Given the description of an element on the screen output the (x, y) to click on. 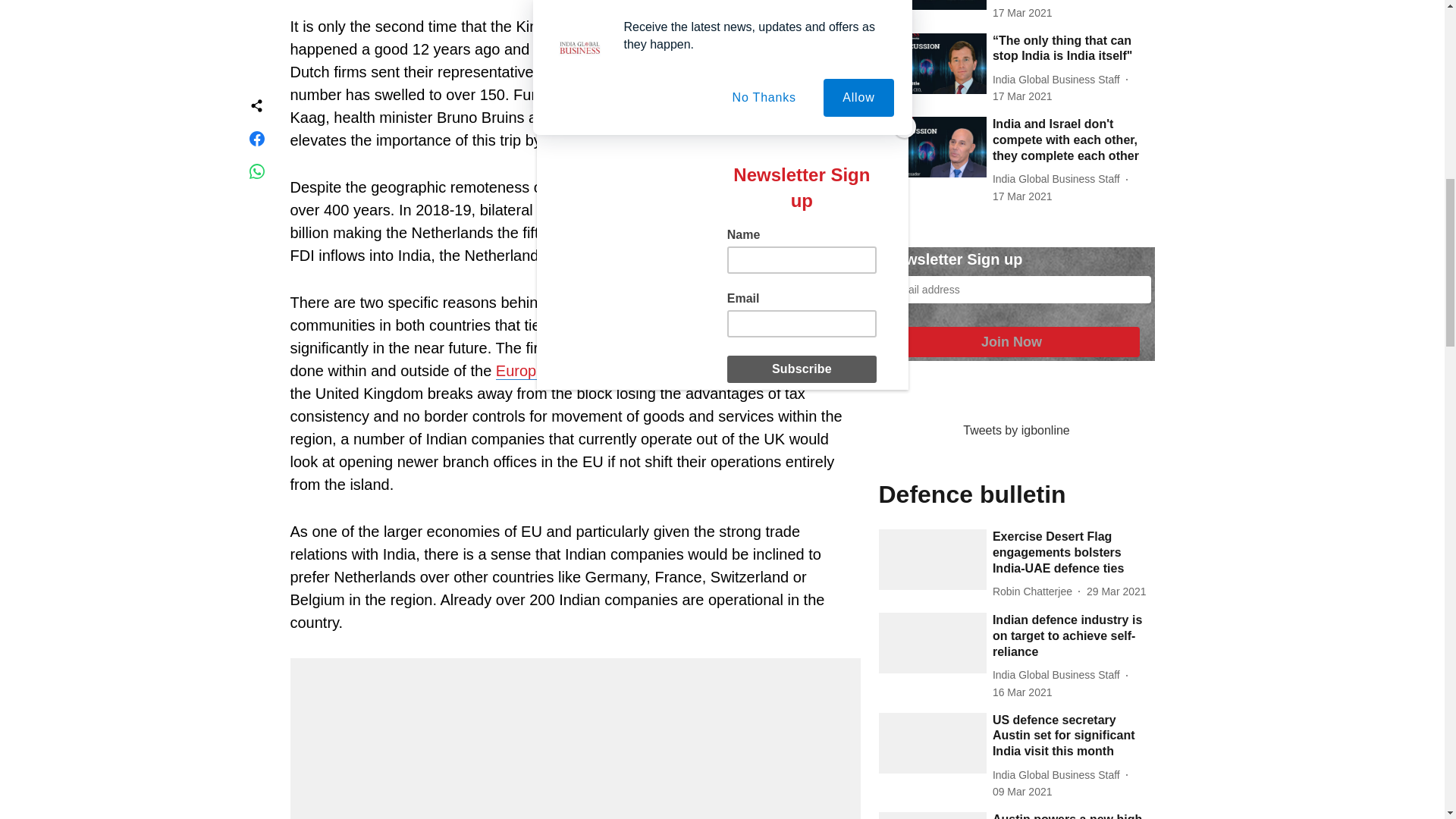
2021-03-16 20:00 (1022, 196)
2021-03-16 20:18 (1022, 12)
Join Now (1011, 341)
2021-03-16 20:10 (1022, 96)
2021-03-09 08:50 (1022, 791)
2021-03-29 11:08 (1116, 591)
2021-03-16 12:55 (1022, 692)
